Given the description of an element on the screen output the (x, y) to click on. 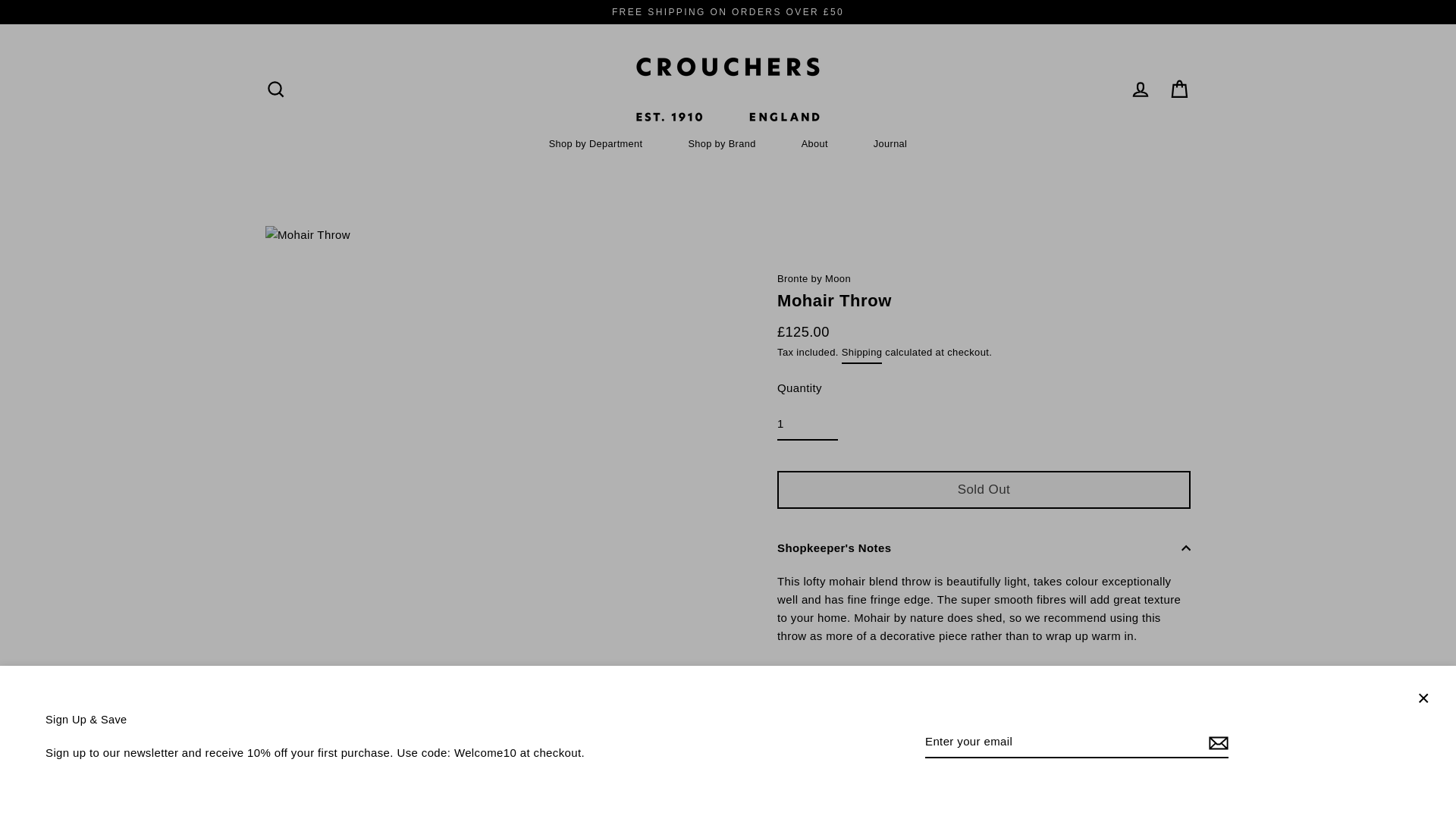
Log in (1140, 88)
Cart (1179, 88)
Subscribe (1216, 742)
Shop by Department (595, 144)
Search (275, 88)
Shop by Brand (721, 144)
1 (807, 424)
About (814, 144)
